Given the description of an element on the screen output the (x, y) to click on. 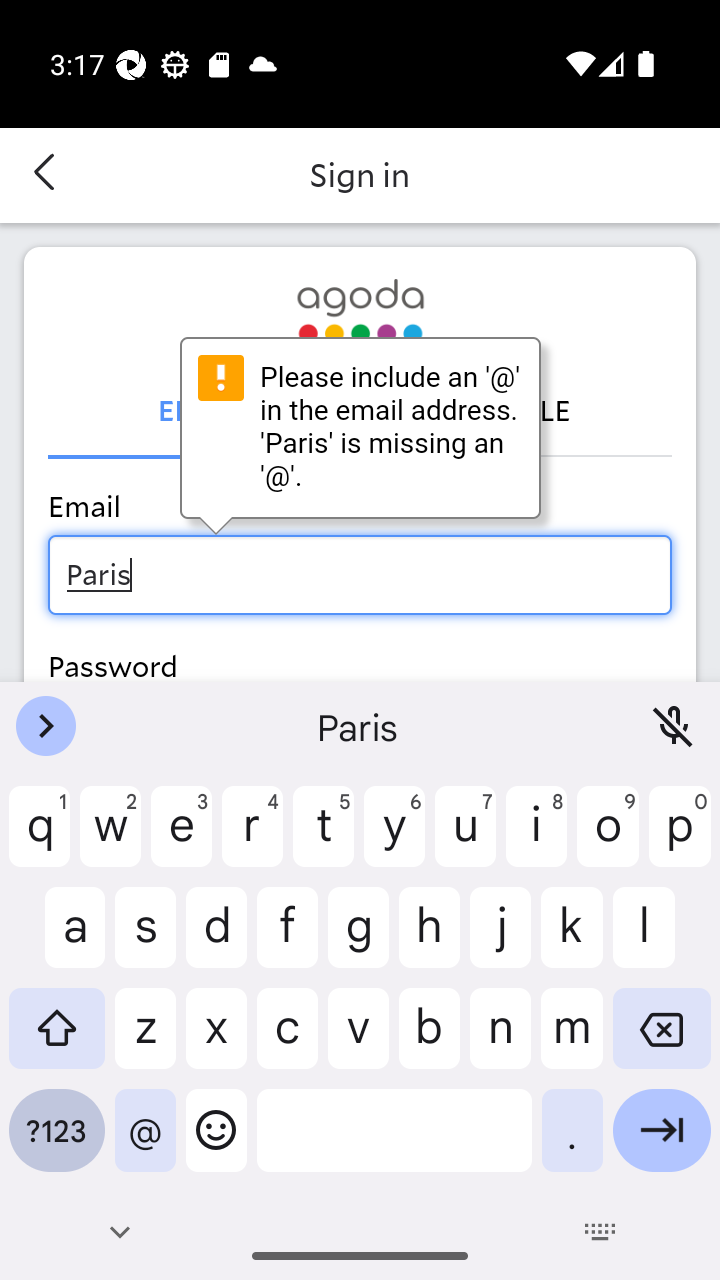
Paris (359, 574)
